Given the description of an element on the screen output the (x, y) to click on. 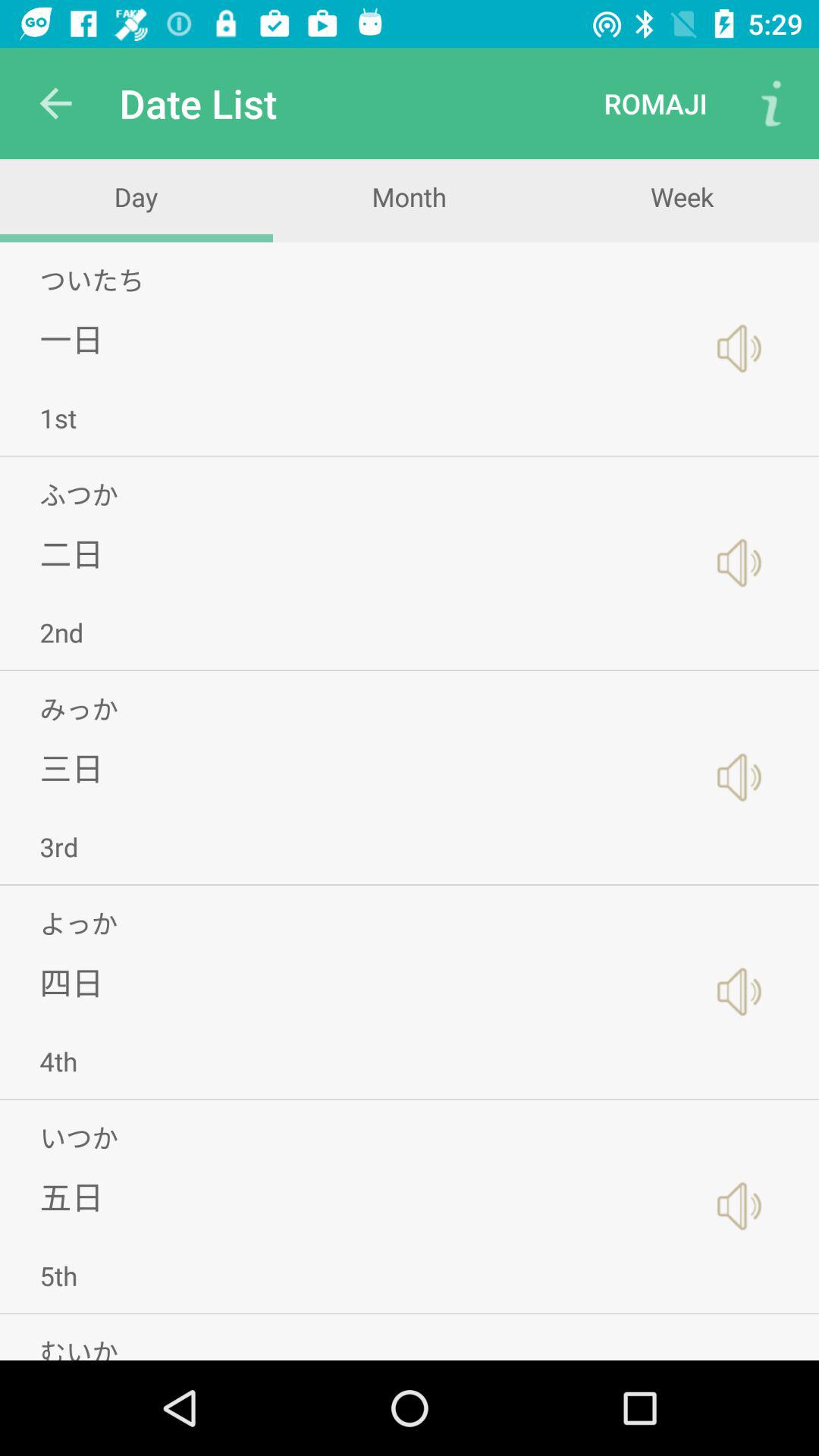
choose 3rd (58, 846)
